Given the description of an element on the screen output the (x, y) to click on. 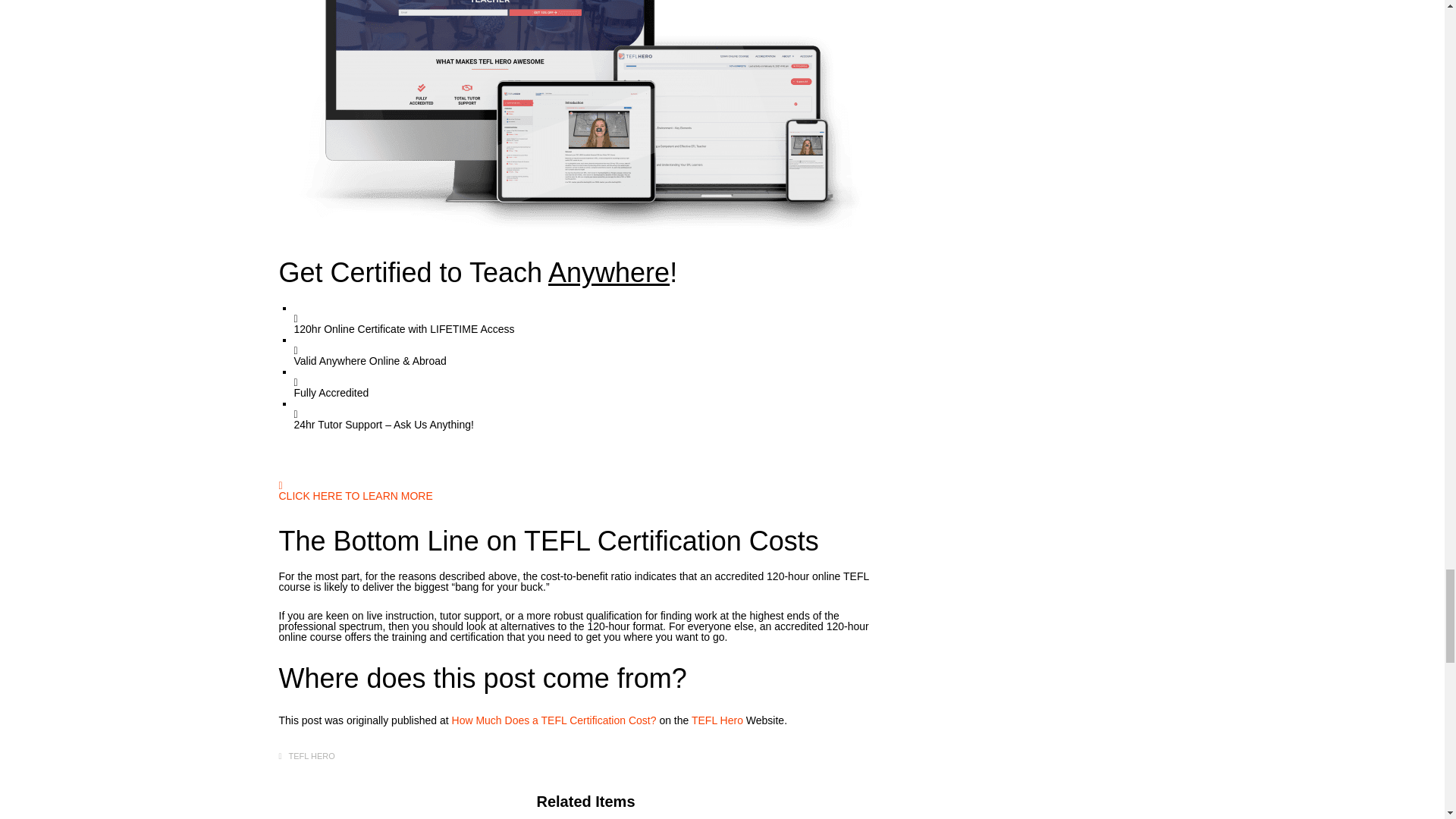
How Much Does a TEFL Certification Cost? (555, 720)
TEFL HERO (311, 756)
CLICK HERE TO LEARN MORE (355, 511)
TEFL Hero (716, 720)
